Given the description of an element on the screen output the (x, y) to click on. 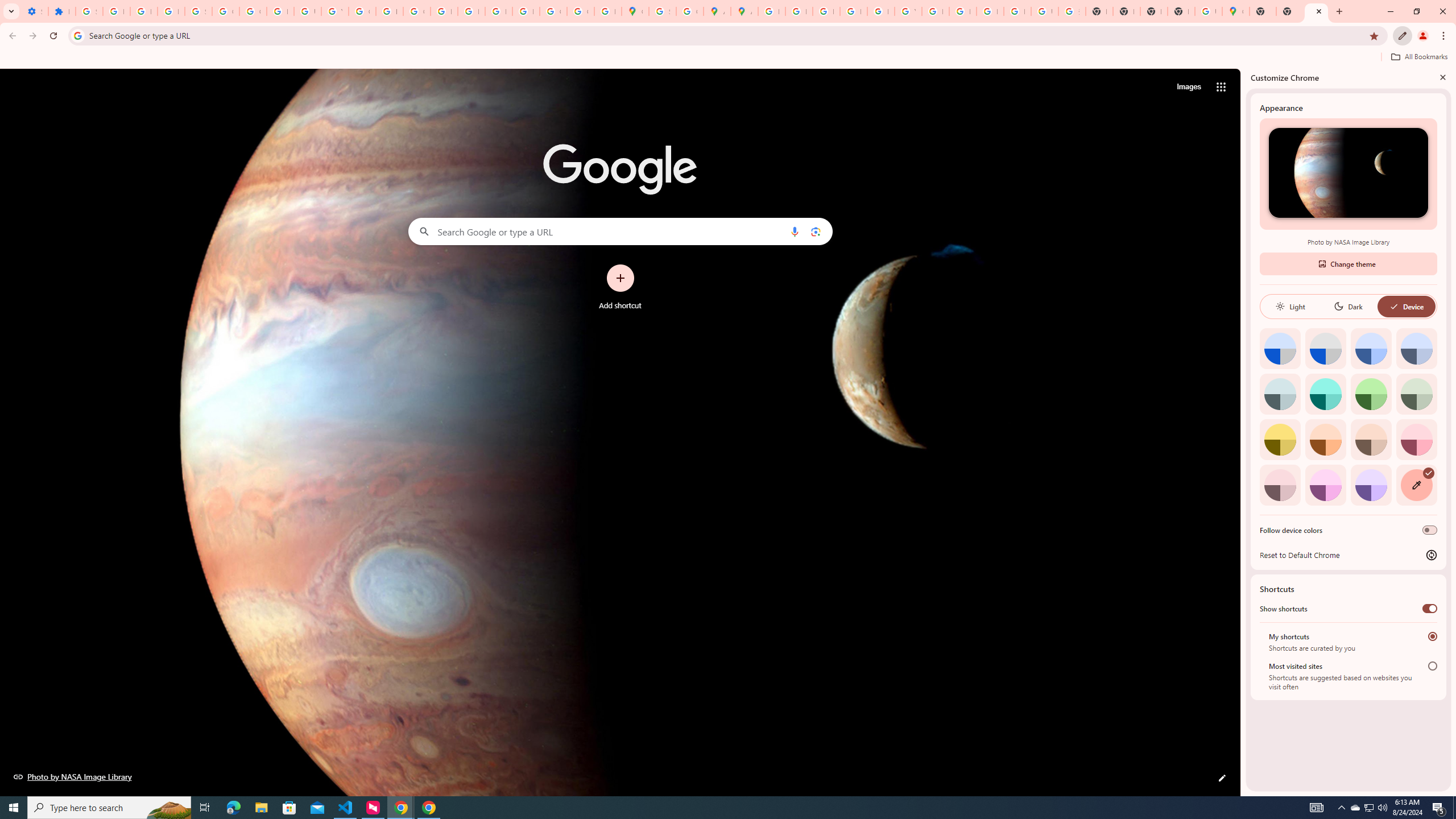
Viridian (1416, 393)
Photo by NASA Image Library (1348, 172)
Show shortcuts (1429, 608)
Photo by NASA Image Library (72, 776)
Citron (1279, 439)
Follow device colors (1429, 529)
Most visited sites (1432, 665)
Delete photos & videos - Computer - Google Photos Help (116, 11)
